Given the description of an element on the screen output the (x, y) to click on. 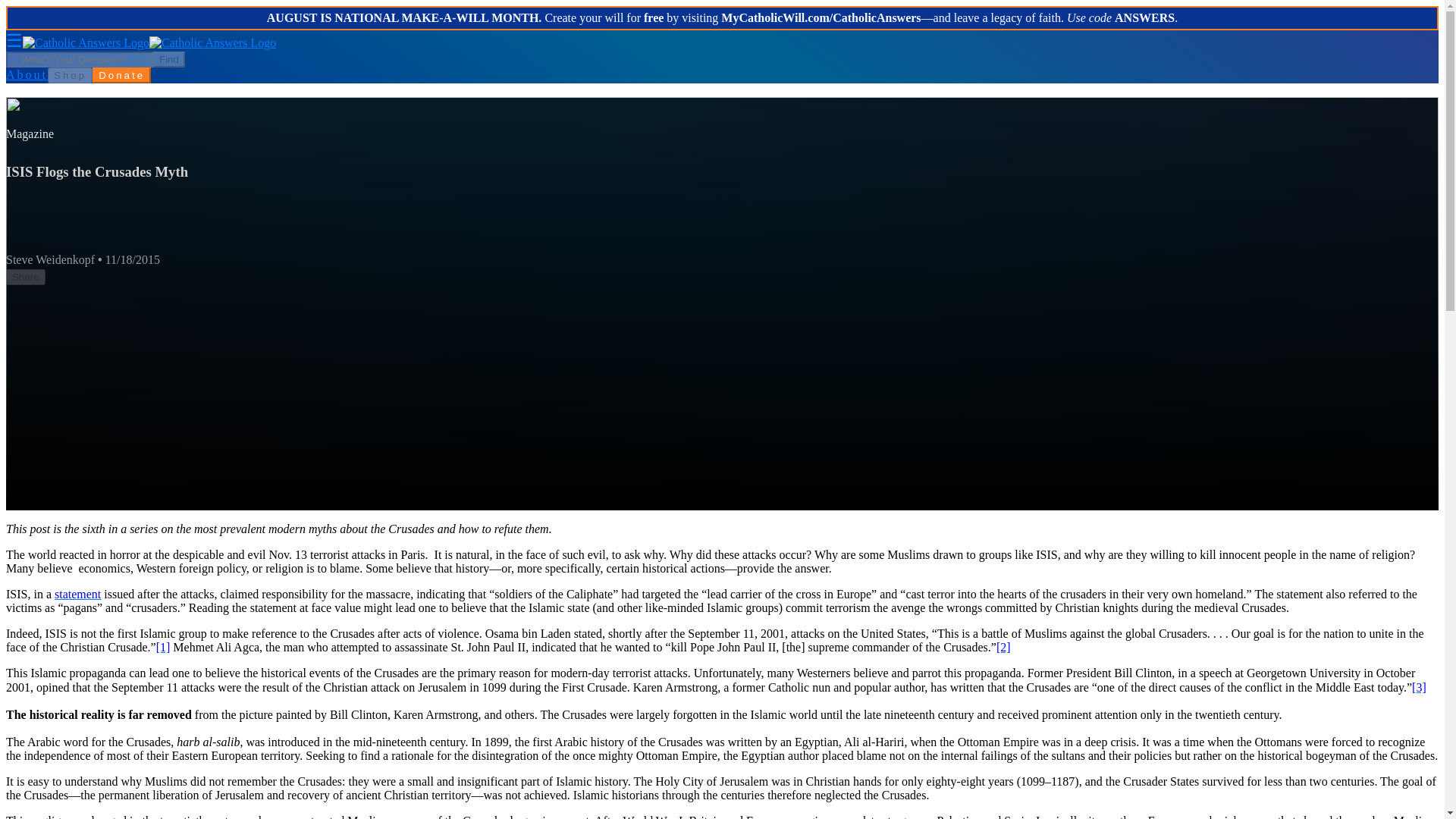
Find (168, 59)
Shop (70, 74)
About (26, 74)
Shop (70, 75)
